Given the description of an element on the screen output the (x, y) to click on. 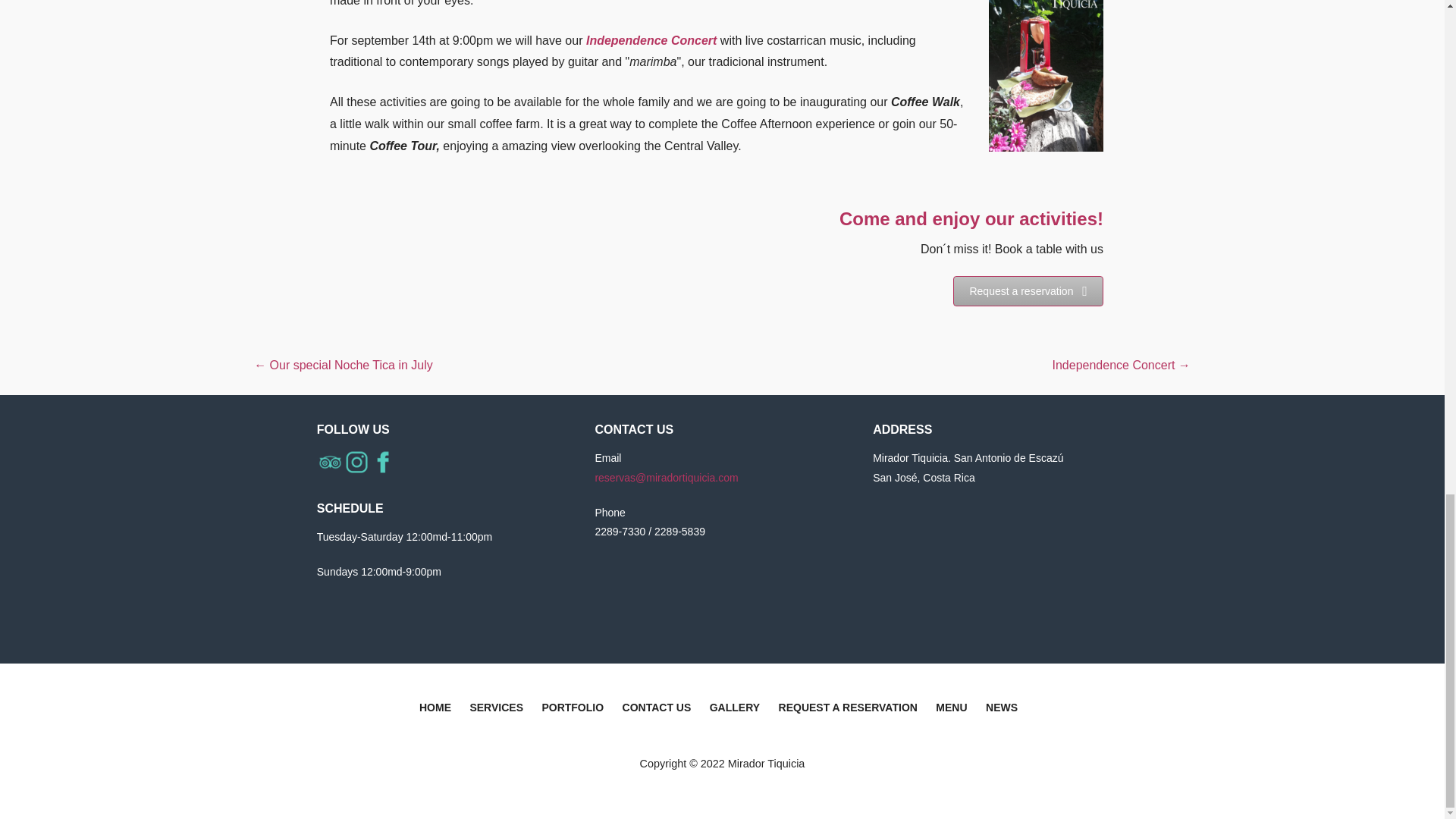
Come and enjoy our activities! (971, 218)
PORTFOLIO (572, 709)
HOME (435, 709)
NEWS (1001, 709)
GALLERY (735, 709)
Request a reservation (1028, 291)
CONTACT US (657, 709)
REQUEST A RESERVATION (847, 709)
Independence Concert (651, 40)
MENU (951, 709)
SERVICES (495, 709)
